Given the description of an element on the screen output the (x, y) to click on. 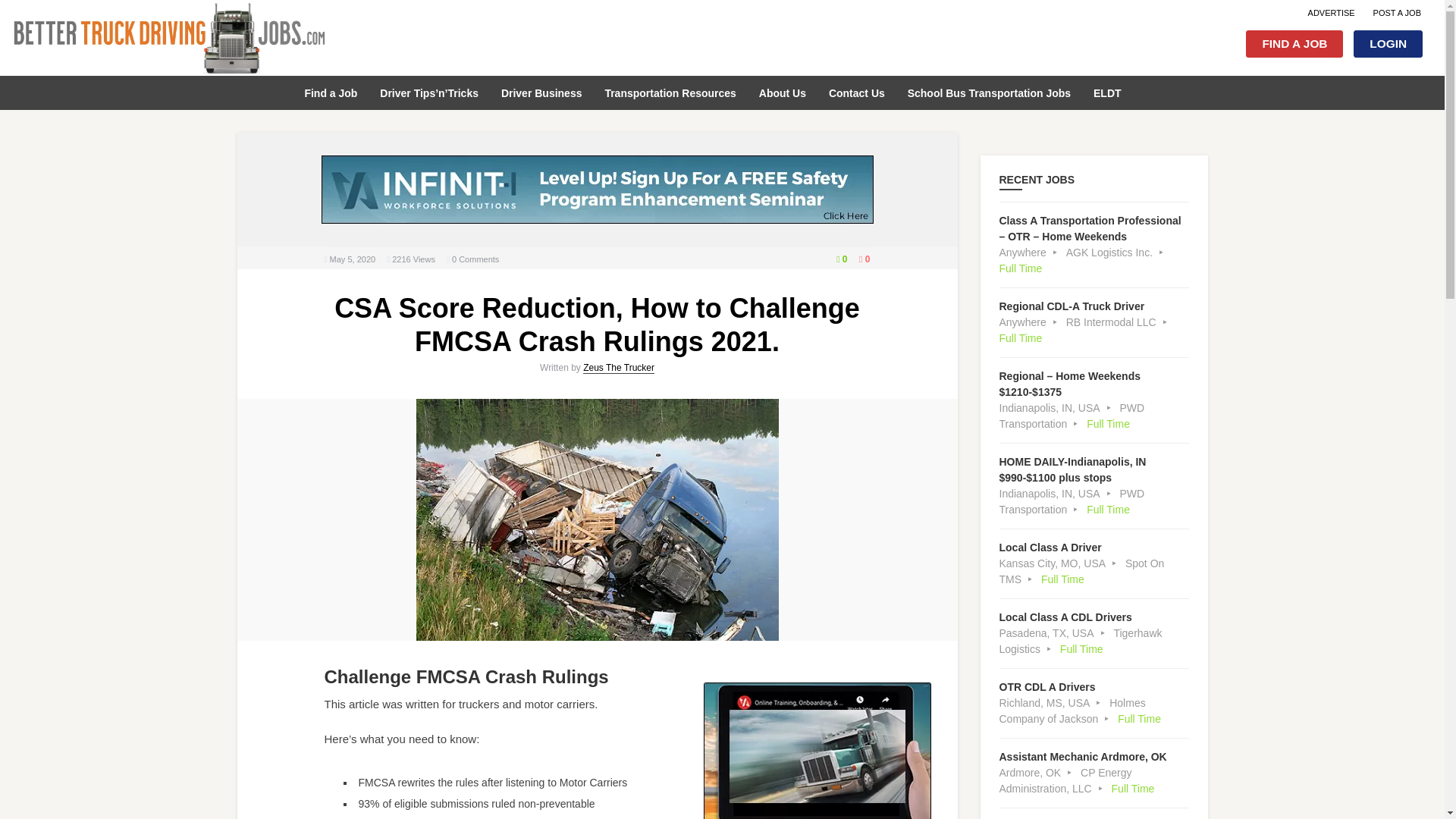
Contact Us (856, 91)
Transportation Resources (670, 91)
Posts by Zeus The Trucker (618, 367)
About Us (782, 91)
Zeus The Trucker (618, 367)
Driver Business (541, 91)
FIND A JOB (1294, 43)
POST A JOB (1397, 12)
0 Comments (475, 258)
School Bus Transportation Jobs (989, 91)
Find a Job (330, 91)
ADVERTISE (1331, 12)
ELDT (1106, 91)
LOGIN (1388, 43)
